Given the description of an element on the screen output the (x, y) to click on. 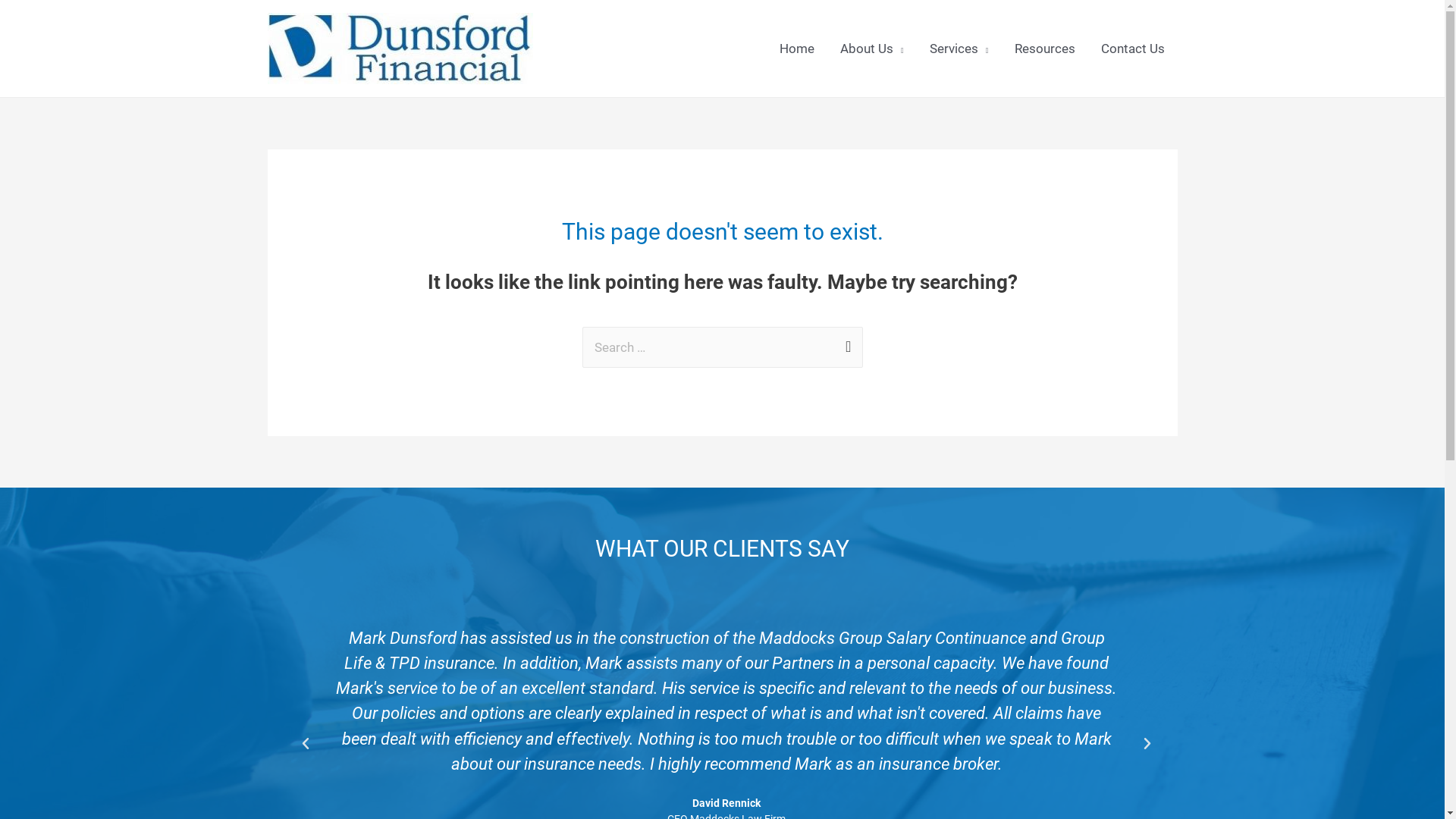
Contact Us Element type: text (1131, 48)
About Us Element type: text (871, 48)
Home Element type: text (796, 48)
Search Element type: text (845, 341)
Services Element type: text (958, 48)
Resources Element type: text (1044, 48)
